Given the description of an element on the screen output the (x, y) to click on. 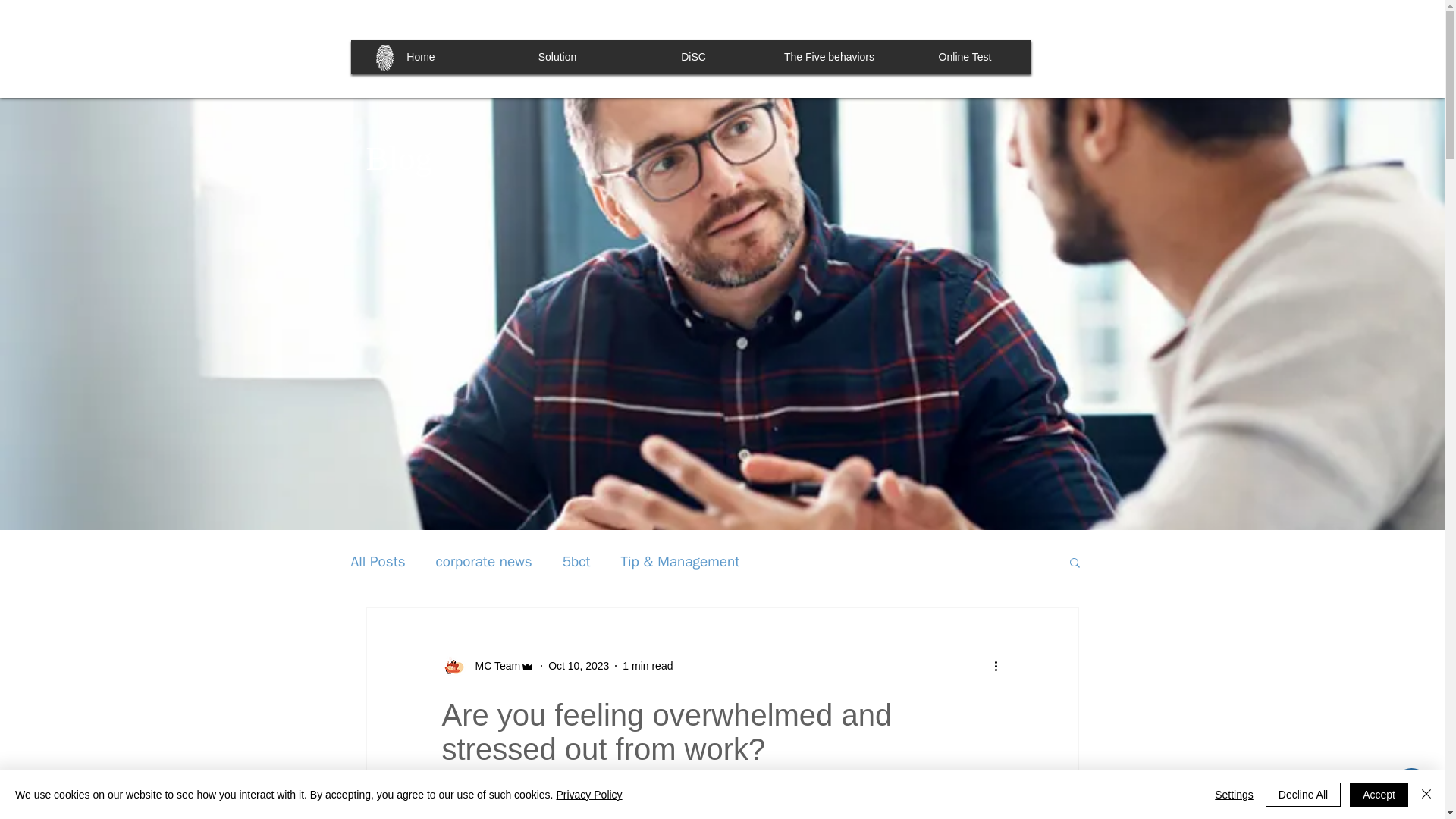
All Posts (377, 561)
Solution (558, 56)
Home (421, 56)
MC Team (492, 666)
5bct (576, 561)
1 min read (647, 665)
MC Team (487, 665)
Online Test (964, 56)
DiSC (693, 56)
corporate news (483, 561)
Oct 10, 2023 (578, 665)
The Five behaviors (828, 56)
